Given the description of an element on the screen output the (x, y) to click on. 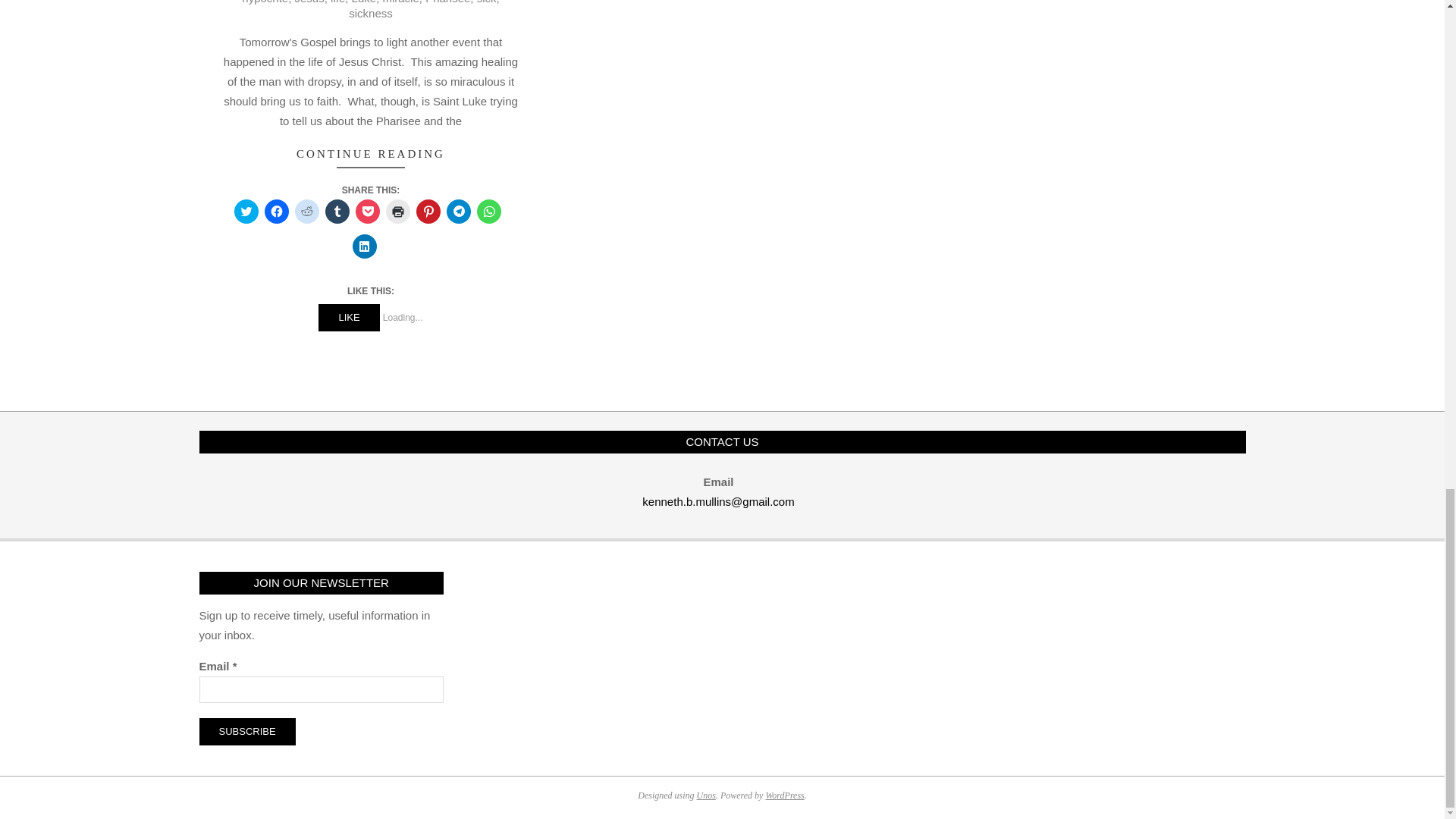
Subscribe (246, 731)
